Given the description of an element on the screen output the (x, y) to click on. 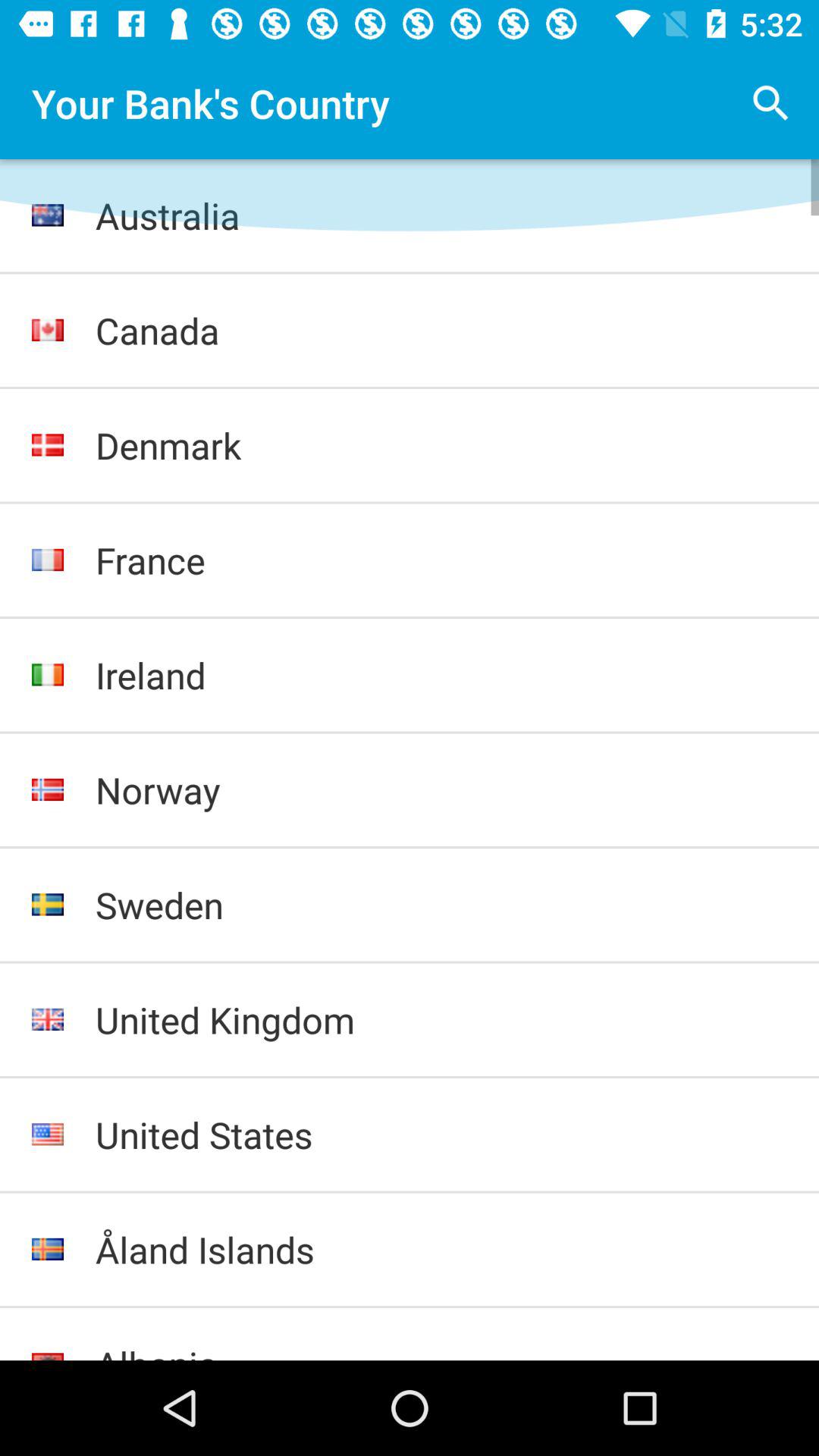
swipe to the canada (441, 329)
